Given the description of an element on the screen output the (x, y) to click on. 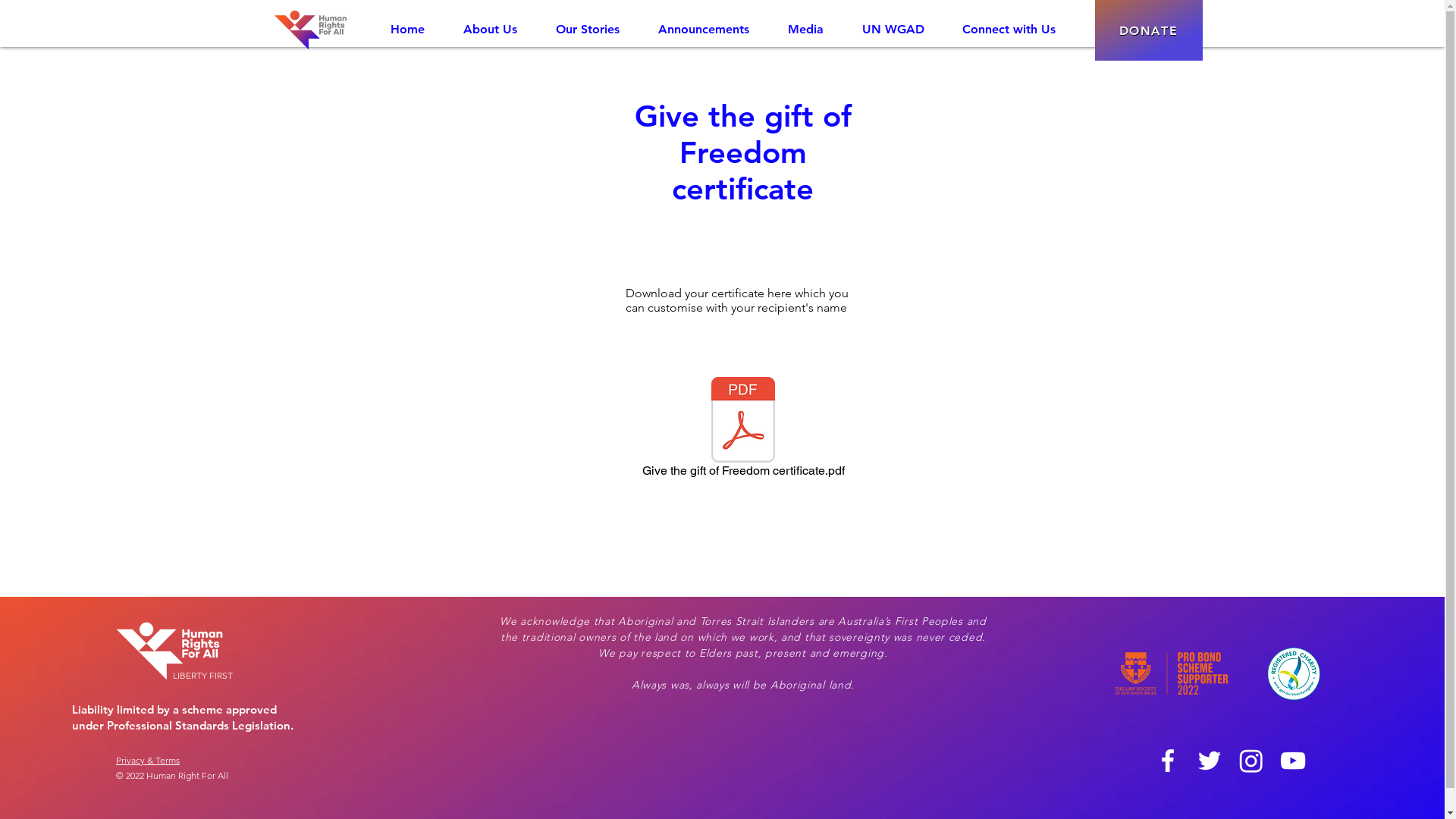
UN WGAD Element type: text (893, 29)
Media Element type: text (805, 29)
Announcements Element type: text (703, 29)
LSNSW_ProBono_Logo_Colour_RGB.png Element type: hover (1171, 673)
About Us Element type: text (490, 29)
ACNC-Registered-Charity-Logo_RGB.png Element type: hover (1294, 673)
Our Stories Element type: text (587, 29)
Give the gift of Freedom certificate.pdf Element type: text (742, 429)
Home Element type: text (407, 29)
DONATE Element type: text (1148, 30)
Connect with Us Element type: text (1008, 29)
Privacy & Terms Element type: text (147, 759)
